Given the description of an element on the screen output the (x, y) to click on. 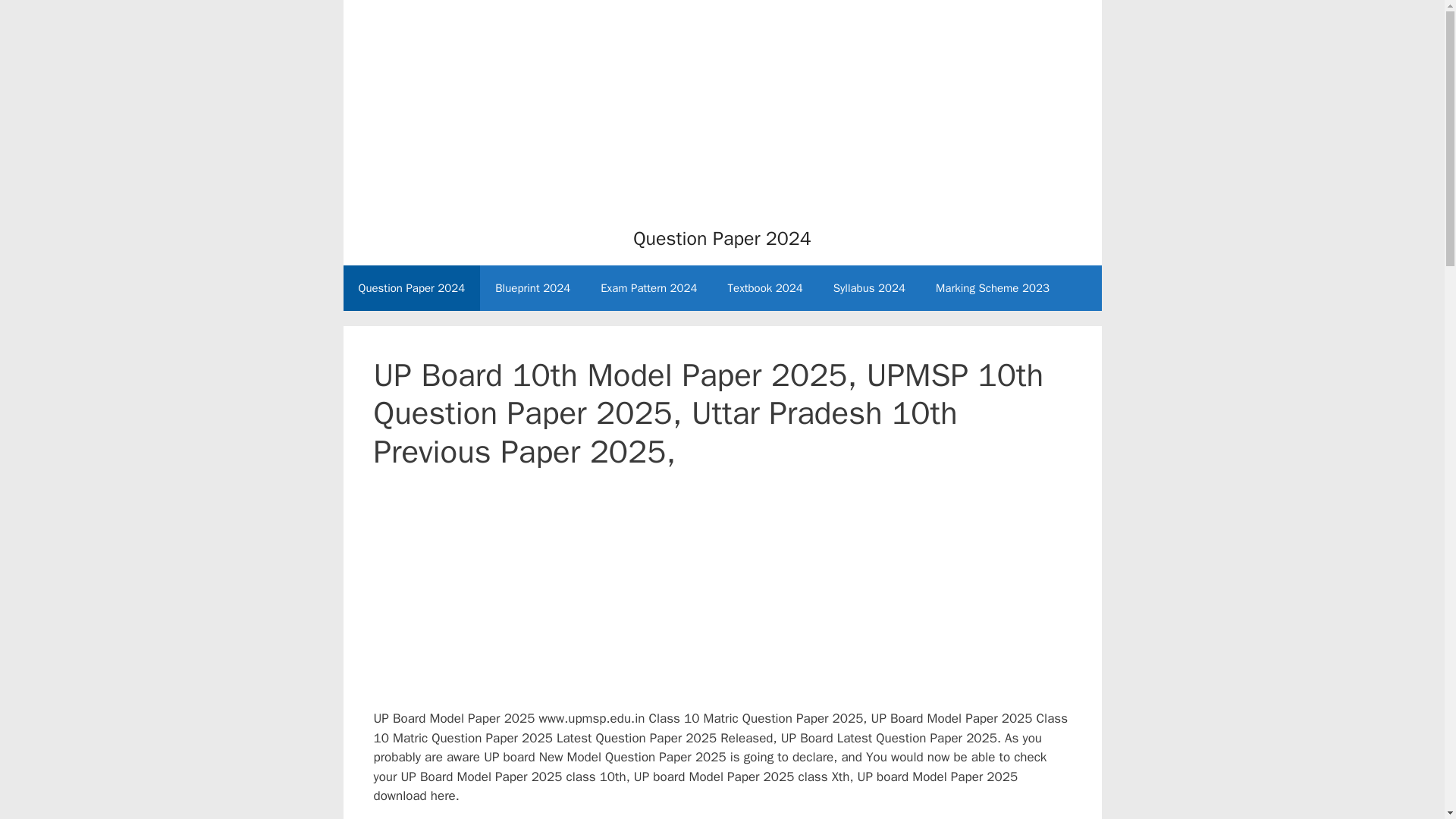
Exam Pattern 2024 (648, 288)
Blueprint 2024 (532, 288)
Question Paper 2024 (721, 238)
Syllabus 2024 (869, 288)
Marking Scheme 2023 (992, 288)
Question Paper 2024 (411, 288)
Textbook 2024 (765, 288)
